Given the description of an element on the screen output the (x, y) to click on. 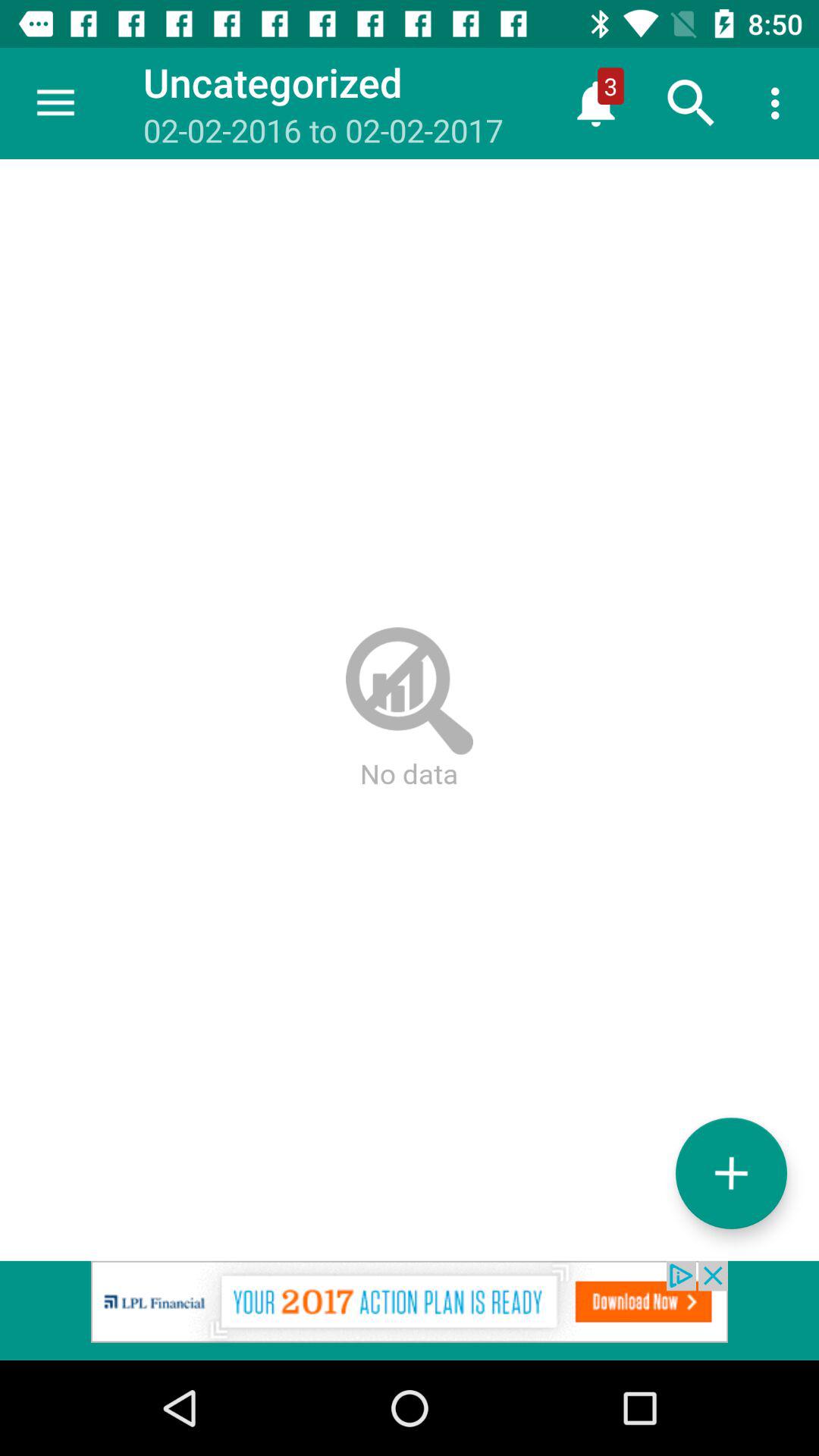
click to the add options (731, 1173)
